Given the description of an element on the screen output the (x, y) to click on. 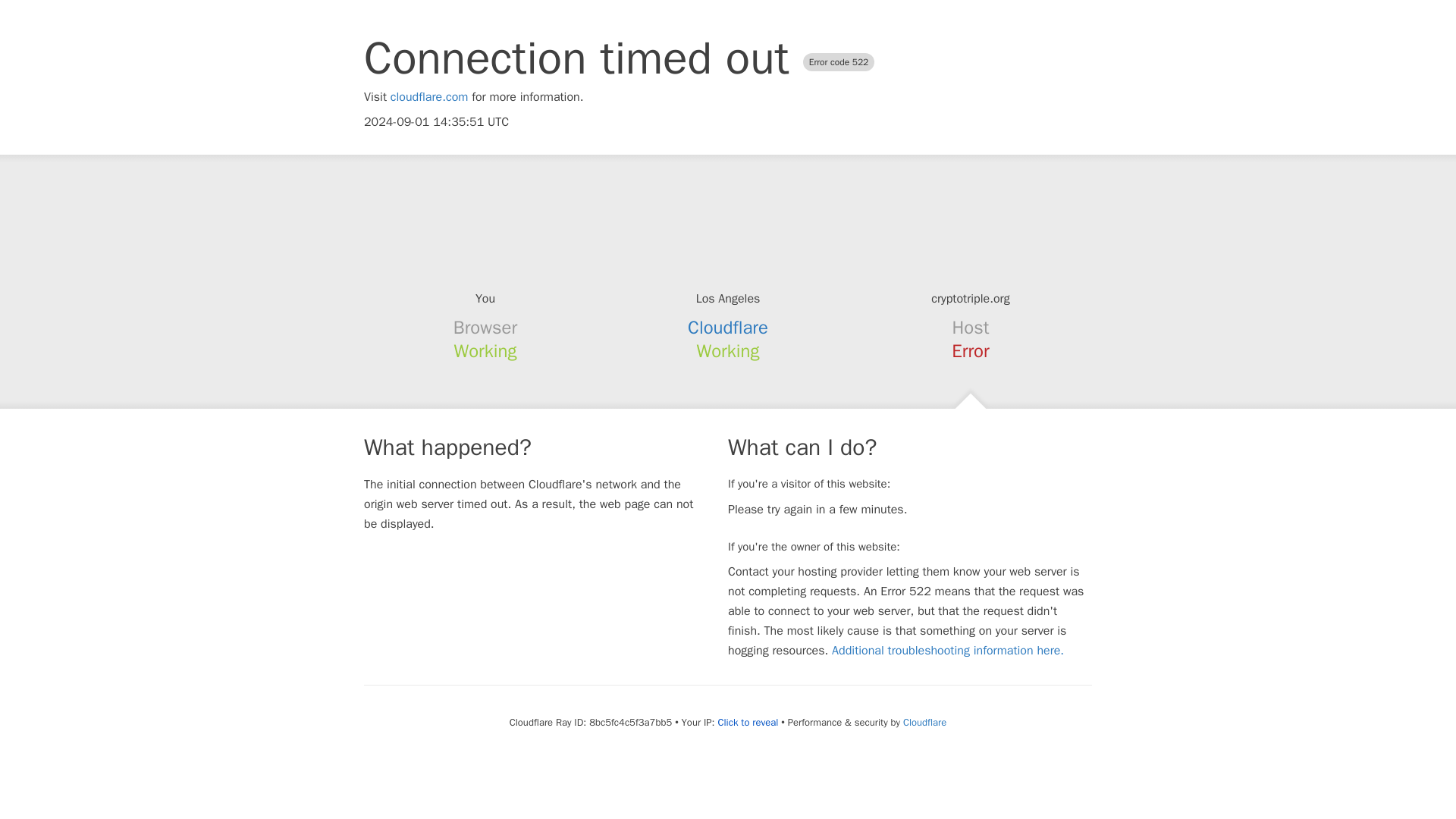
Additional troubleshooting information here. (947, 650)
Cloudflare (727, 327)
Cloudflare (924, 721)
cloudflare.com (429, 96)
Click to reveal (747, 722)
